Given the description of an element on the screen output the (x, y) to click on. 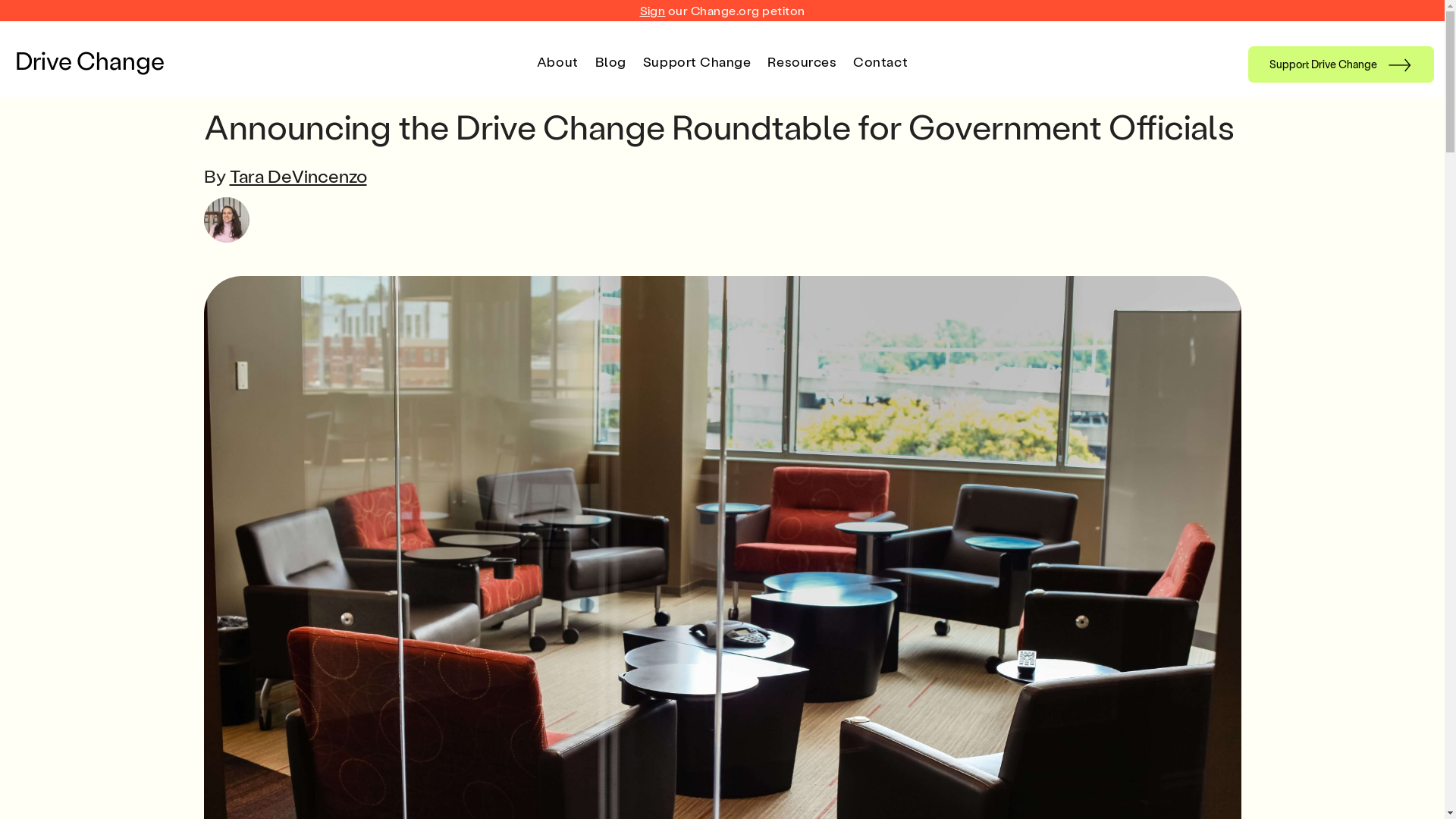
Tara DeVincenzo Element type: text (297, 175)
Support Change Element type: text (696, 61)
About Element type: text (557, 61)
Sign our Change.org petiton Element type: text (722, 10)
Support Drive Change Element type: text (1341, 64)
Contact Element type: text (880, 61)
Drive Change Element type: text (89, 59)
Blog Element type: text (610, 61)
Resources Element type: text (801, 61)
